Given the description of an element on the screen output the (x, y) to click on. 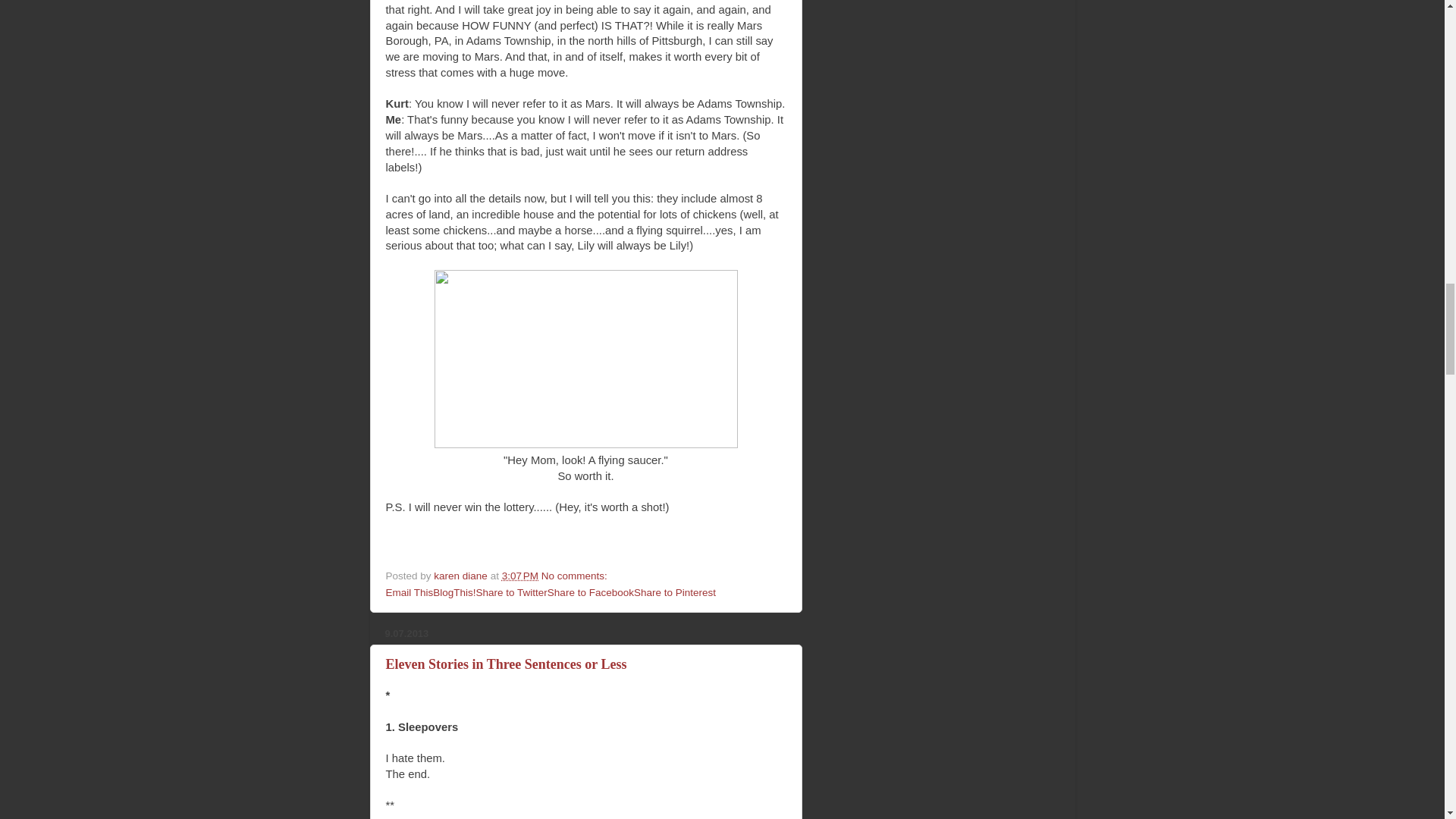
Eleven Stories in Three Sentences or Less (505, 663)
permanent link (520, 575)
No comments: (575, 575)
Share to Pinterest (674, 592)
Share to Facebook (590, 592)
Email This (408, 592)
BlogThis! (454, 592)
Email Post (617, 575)
author profile (461, 575)
Share to Facebook (590, 592)
karen diane (461, 575)
Share to Twitter (511, 592)
Email This (408, 592)
Share to Twitter (511, 592)
